Given the description of an element on the screen output the (x, y) to click on. 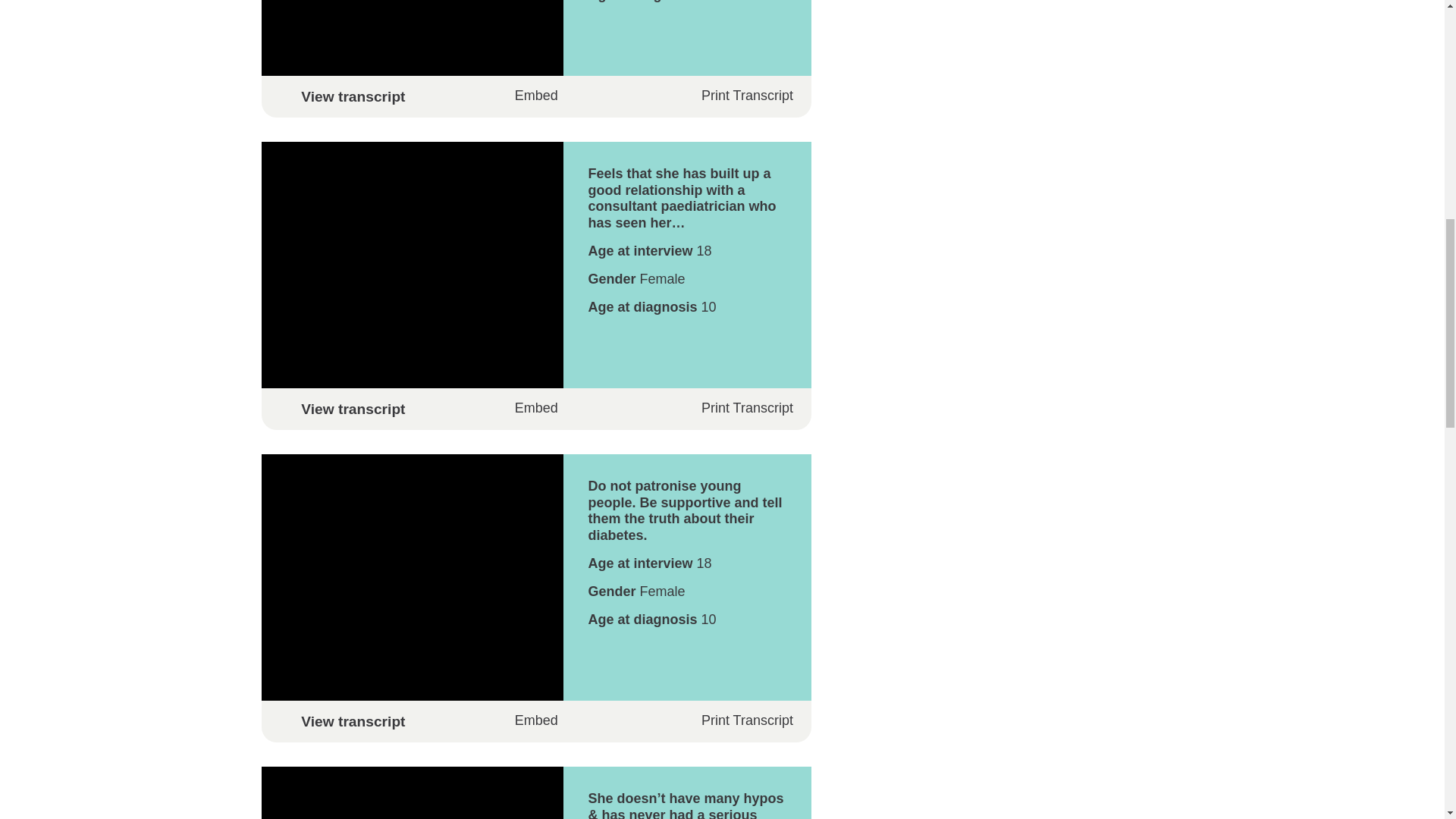
Print Transcript (736, 95)
View transcript (535, 408)
Embed (536, 95)
Print Transcript (736, 720)
View transcript (535, 721)
Embed (536, 407)
Embed (536, 720)
Print Transcript (736, 408)
View transcript (535, 96)
